Given the description of an element on the screen output the (x, y) to click on. 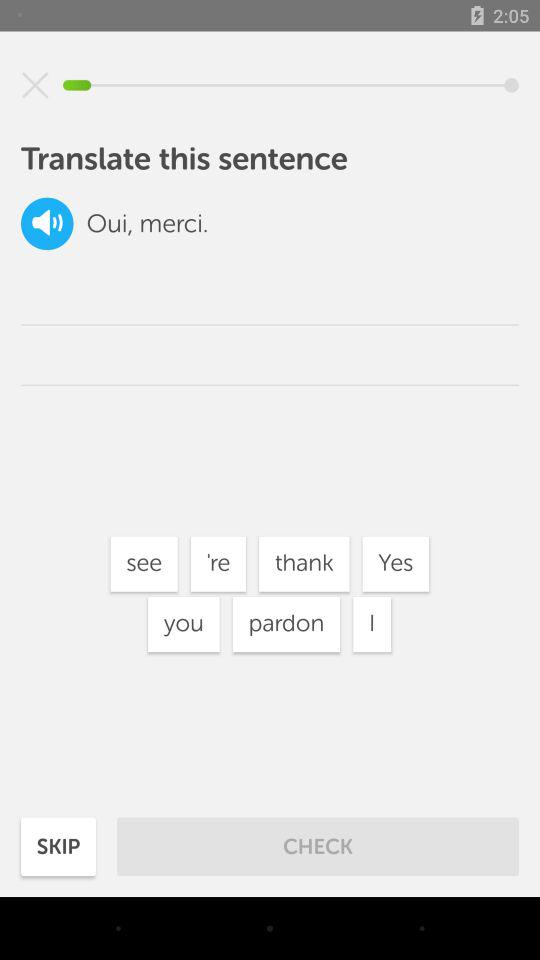
pronunciation button (47, 223)
